Given the description of an element on the screen output the (x, y) to click on. 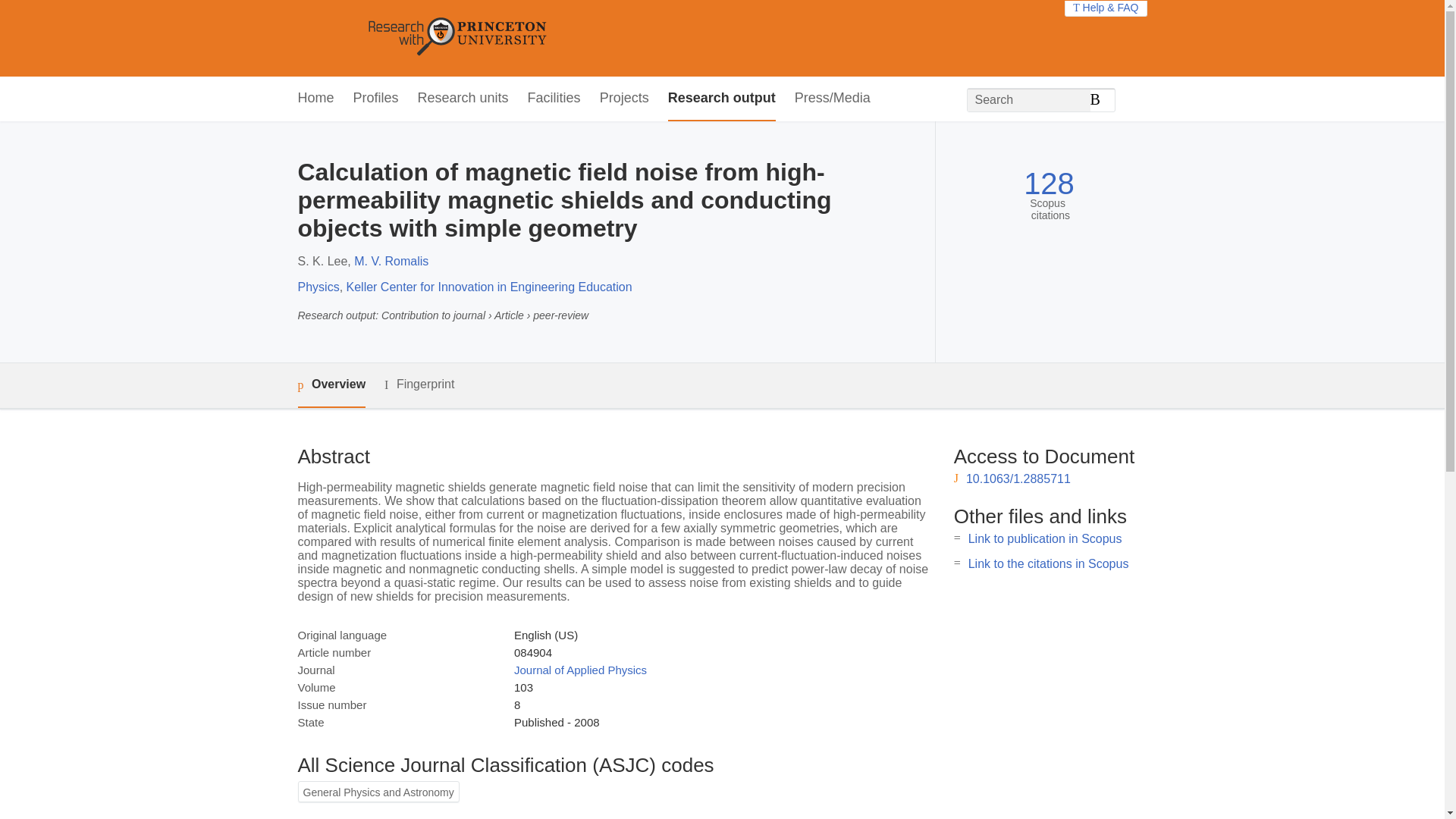
Princeton University Home (567, 38)
Fingerprint (419, 384)
Journal of Applied Physics (579, 669)
Facilities (553, 98)
Research units (462, 98)
M. V. Romalis (390, 260)
Keller Center for Innovation in Engineering Education (488, 286)
Overview (331, 385)
128 (1048, 183)
